Given the description of an element on the screen output the (x, y) to click on. 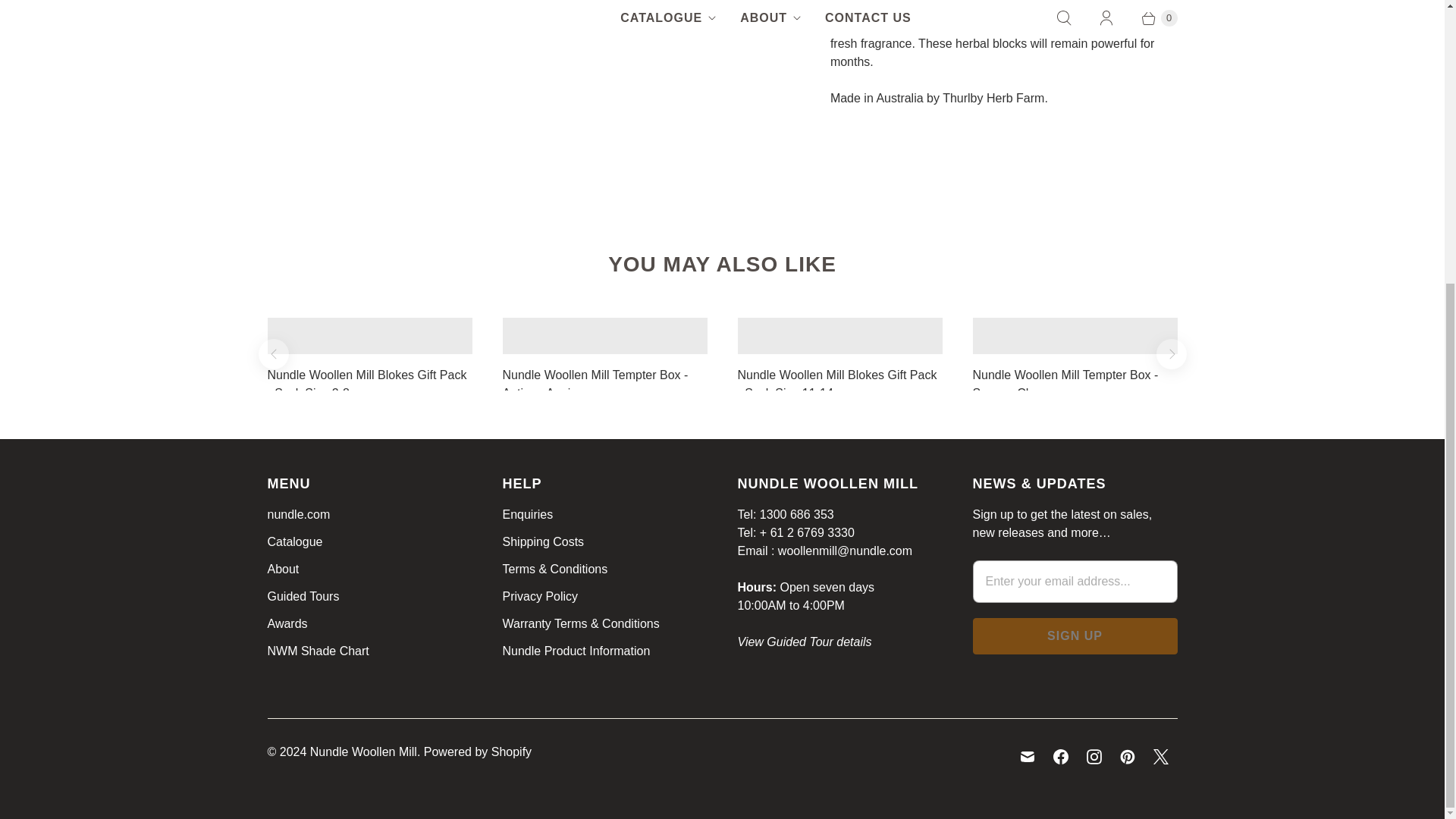
Sign Up (1074, 636)
 View Guided Tour details (803, 641)
